Given the description of an element on the screen output the (x, y) to click on. 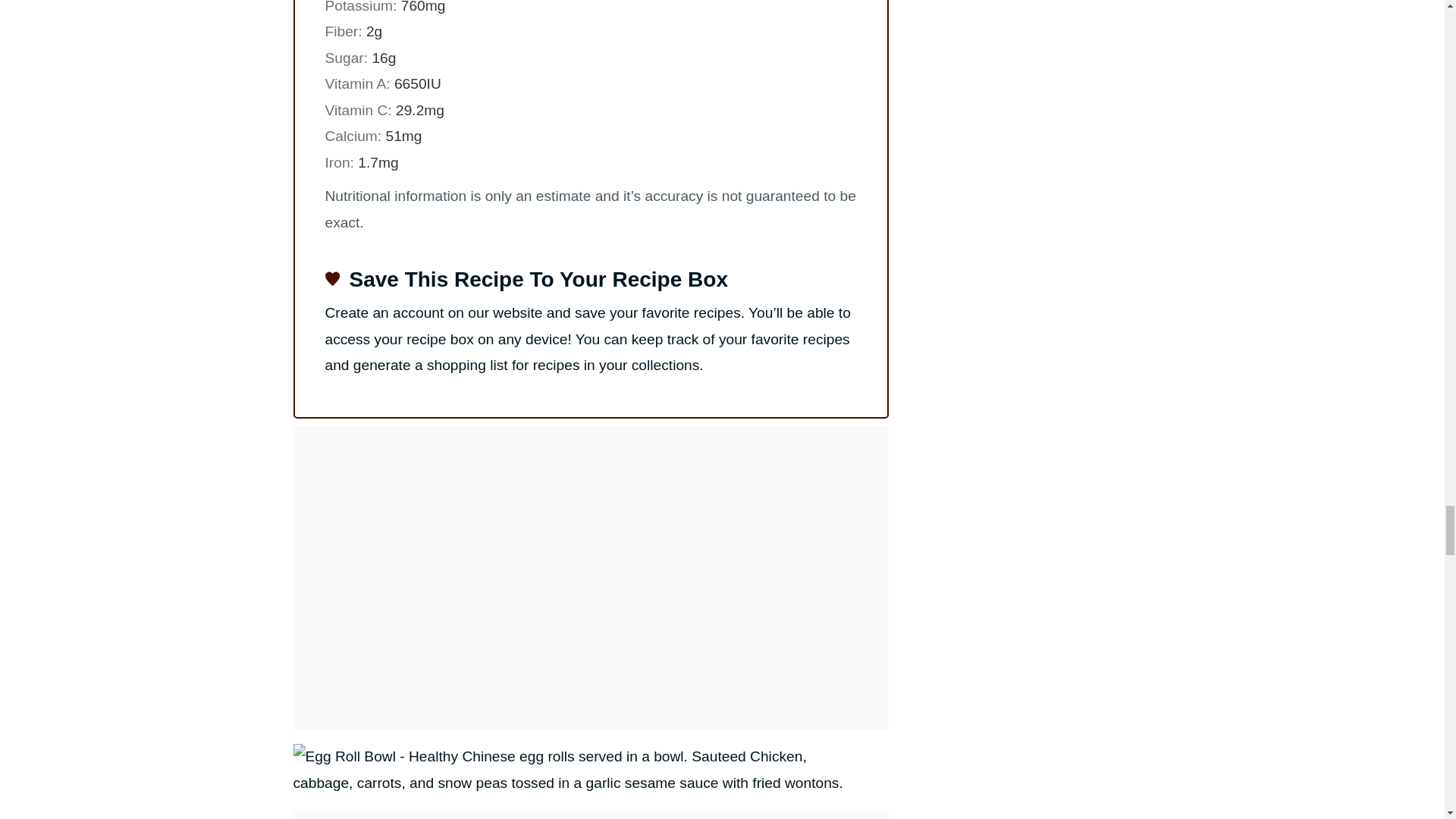
Asian Garlic Sesame Chicken Egg Roll Bowls 3 (574, 769)
